Given the description of an element on the screen output the (x, y) to click on. 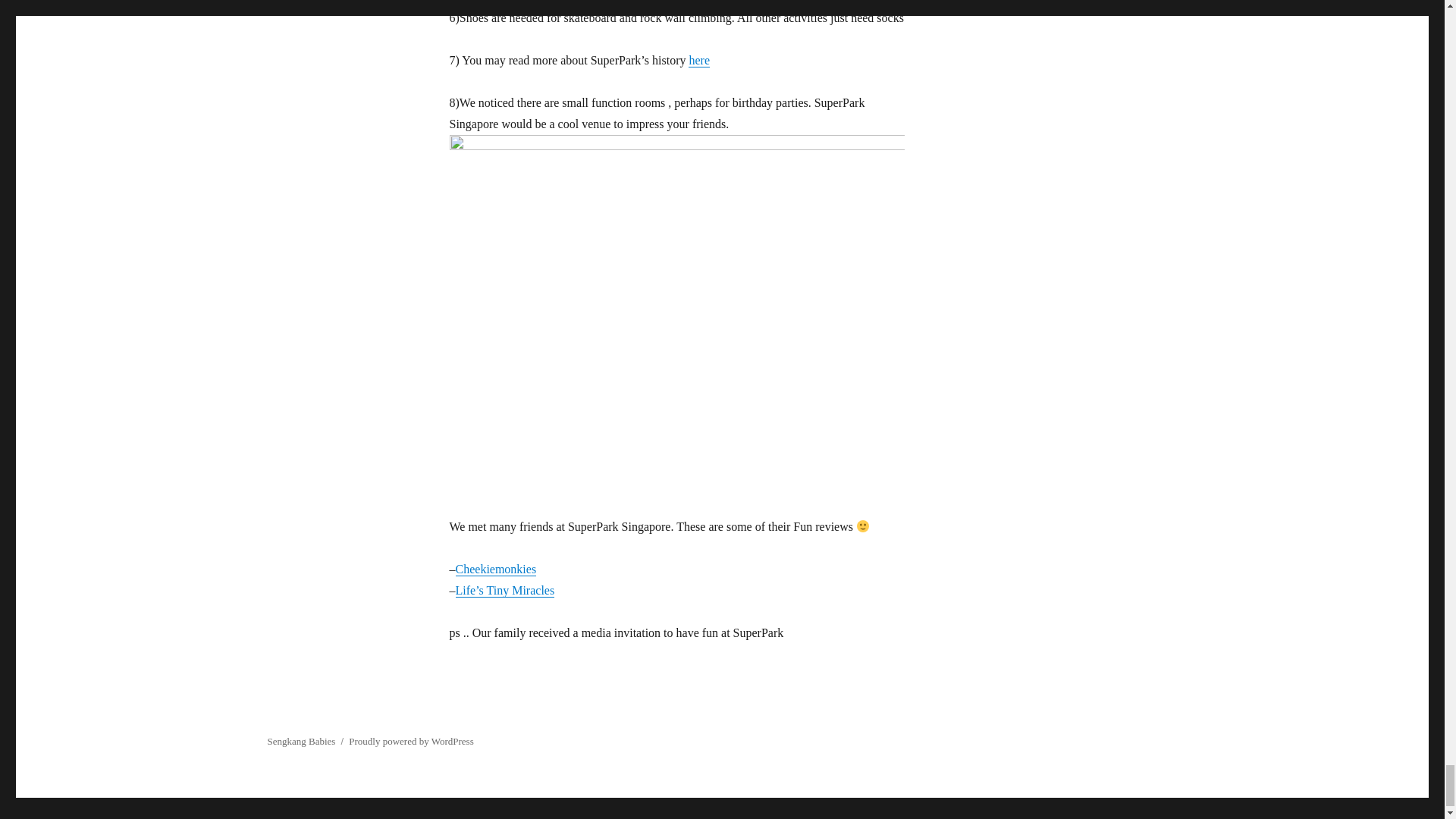
here (699, 60)
Cheekiemonkies (494, 568)
